Given the description of an element on the screen output the (x, y) to click on. 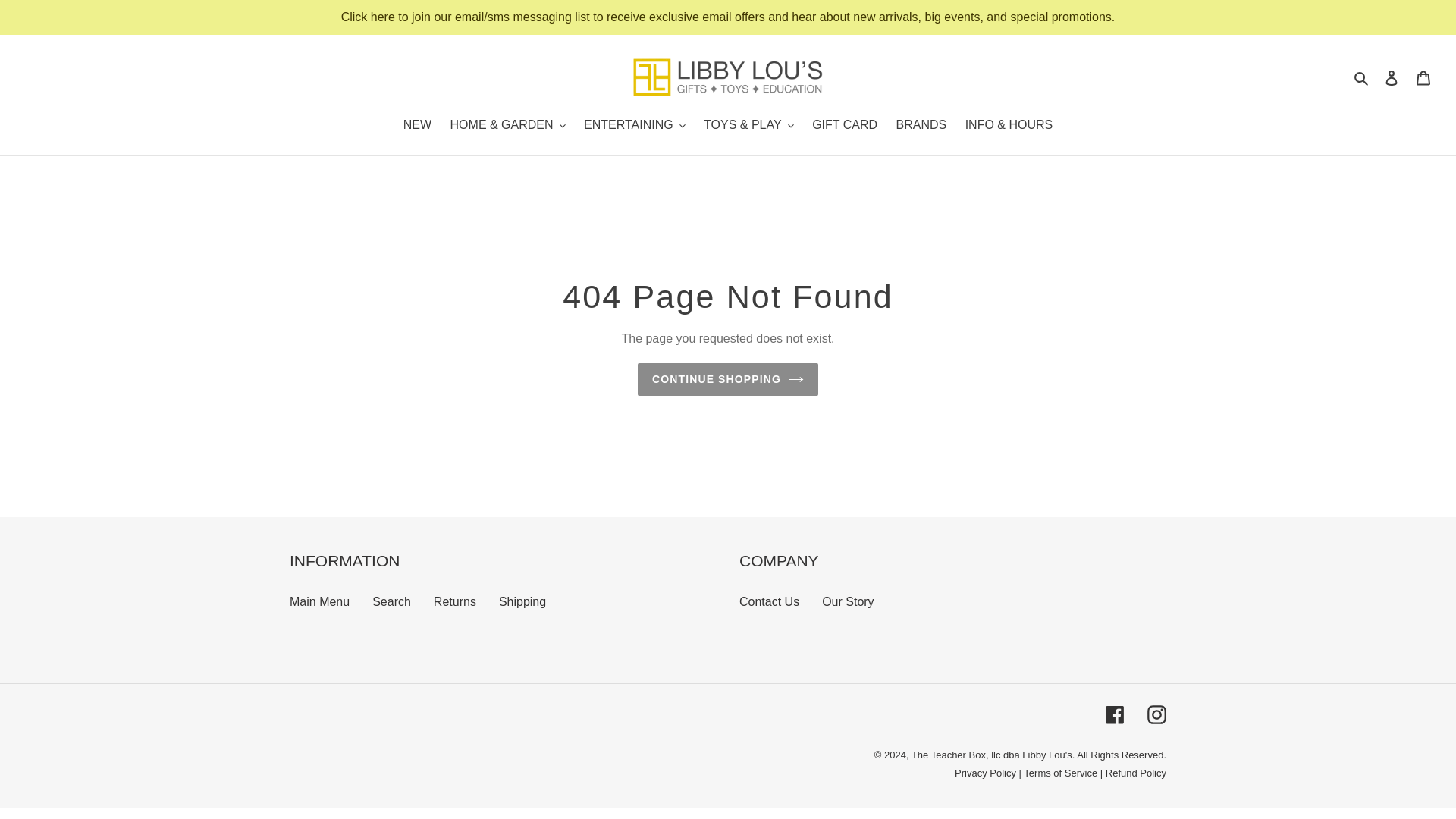
Search (1362, 76)
Log in (1391, 77)
Cart (1423, 77)
